Given the description of an element on the screen output the (x, y) to click on. 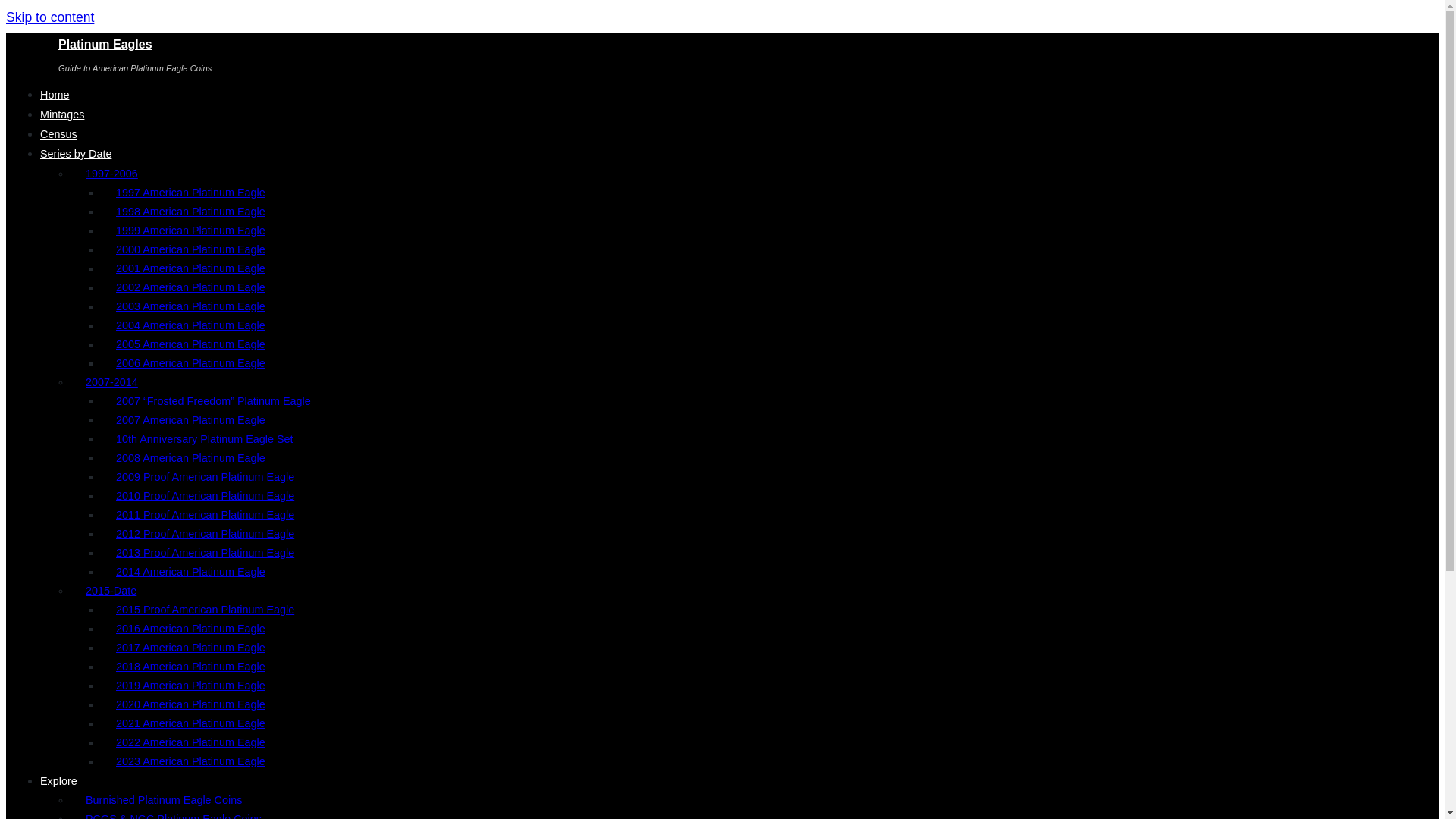
Mintages (62, 114)
2023 American Platinum Eagle (194, 760)
2019 American Platinum Eagle (194, 685)
2007-2014 (126, 381)
2006 American Platinum Eagle (194, 362)
2015-Date (126, 590)
2004 American Platinum Eagle (194, 325)
1999 American Platinum Eagle (194, 230)
2021 American Platinum Eagle (194, 723)
Census (58, 133)
2005 American Platinum Eagle (194, 343)
2016 American Platinum Eagle (194, 628)
2020 American Platinum Eagle (194, 704)
Skip to content (49, 17)
2002 American Platinum Eagle (194, 287)
